Given the description of an element on the screen output the (x, y) to click on. 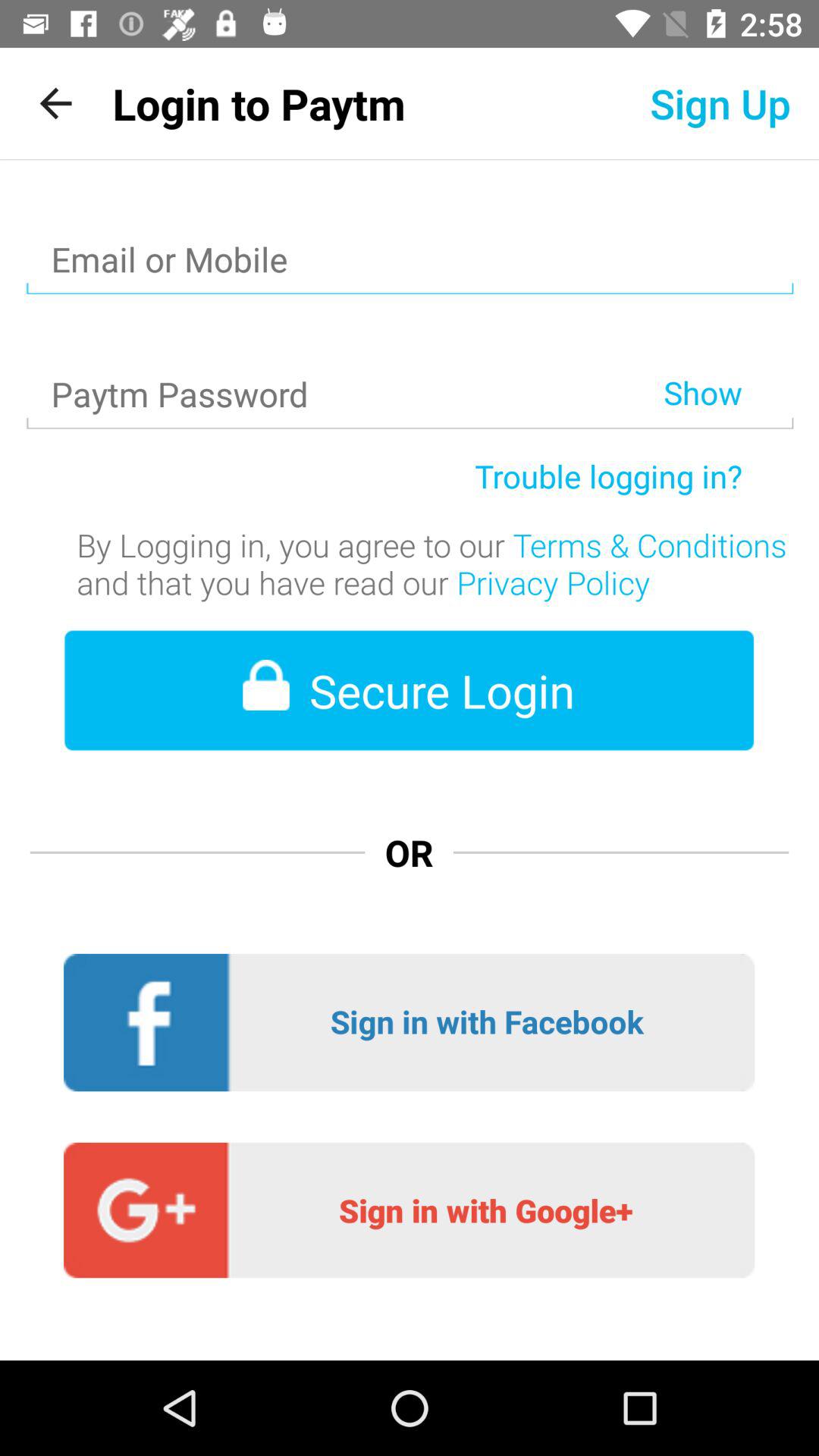
flip to the login to paytm icon (258, 103)
